Given the description of an element on the screen output the (x, y) to click on. 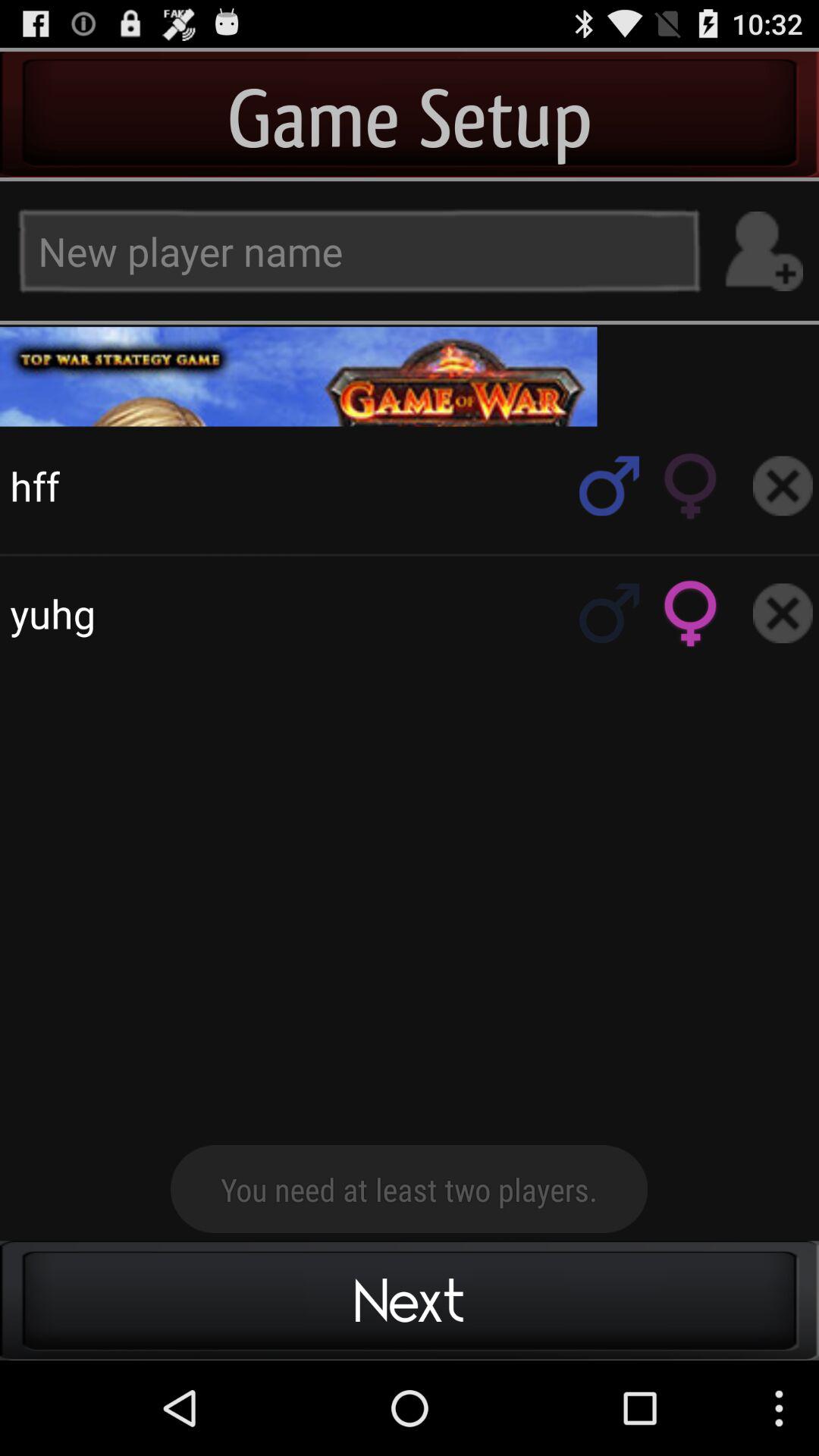
search rol (609, 485)
